Given the description of an element on the screen output the (x, y) to click on. 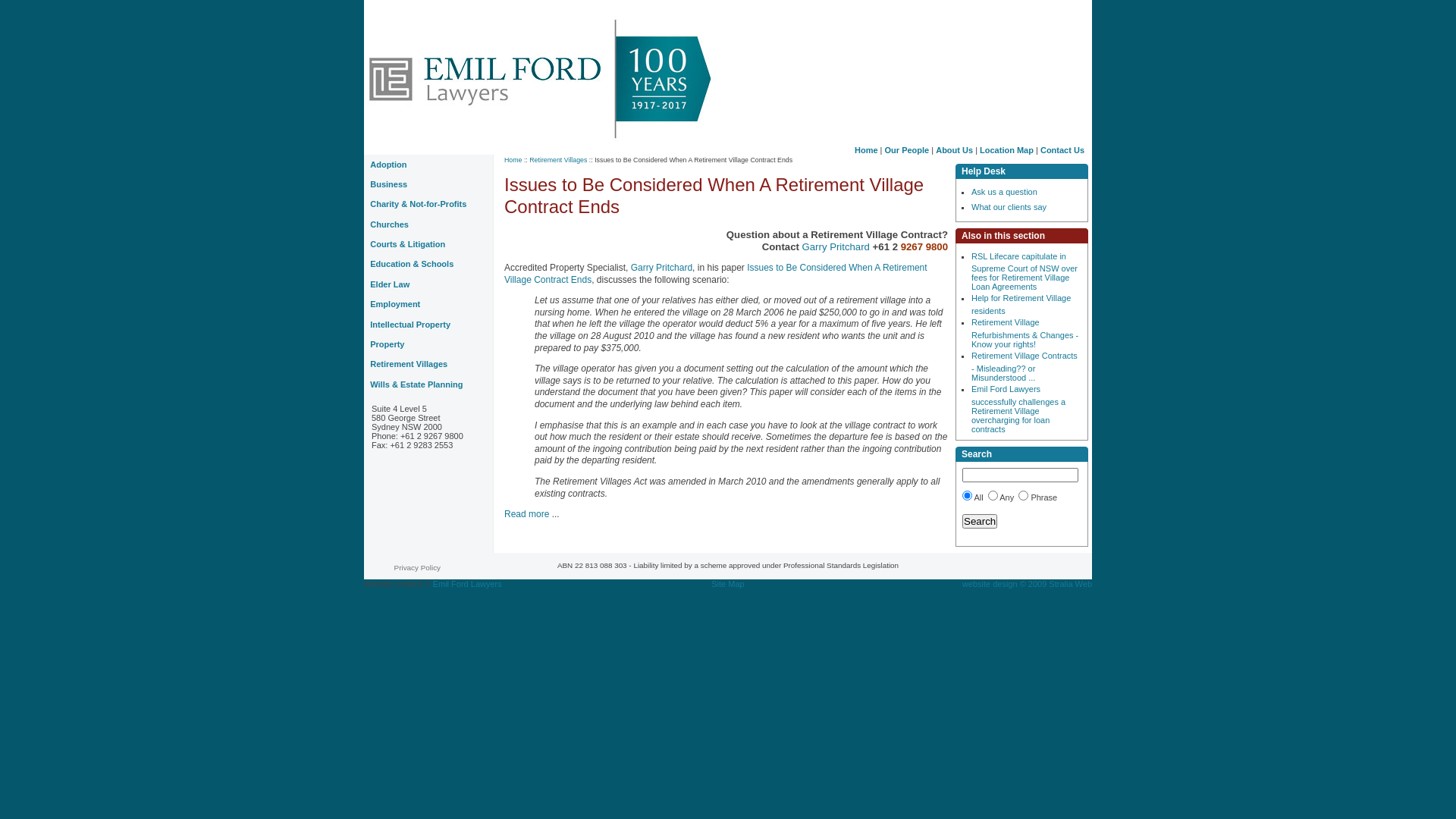
Property Element type: text (428, 344)
Courts & Litigation Element type: text (428, 244)
Wills & Estate Planning Element type: text (428, 384)
Garry Pritchard Element type: text (837, 246)
Retirement Villages Element type: text (557, 159)
Home Element type: text (512, 159)
Contact Us Element type: text (1062, 149)
What our clients say Element type: text (1008, 206)
Location Map Element type: text (1006, 149)
Retirement Villages Element type: text (428, 364)
Help for Retirement Village residents Element type: text (1020, 304)
Charity & Not-for-Profits Element type: text (428, 204)
Business Element type: text (428, 184)
Elder Law Element type: text (428, 284)
Garry Pritchard Element type: text (661, 267)
Our People Element type: text (906, 149)
About Us Element type: text (953, 149)
Employment Element type: text (428, 304)
Ask us a question Element type: text (1004, 191)
Churches Element type: text (428, 224)
Privacy Policy Element type: text (417, 567)
Adoption Element type: text (428, 164)
Search Element type: text (979, 521)
Read more Element type: text (528, 513)
Emil Ford Lawyers Element type: text (467, 583)
Education & Schools Element type: text (428, 264)
Intellectual Property Element type: text (428, 324)
Site Map Element type: text (727, 583)
Home Element type: text (866, 149)
